Given the description of an element on the screen output the (x, y) to click on. 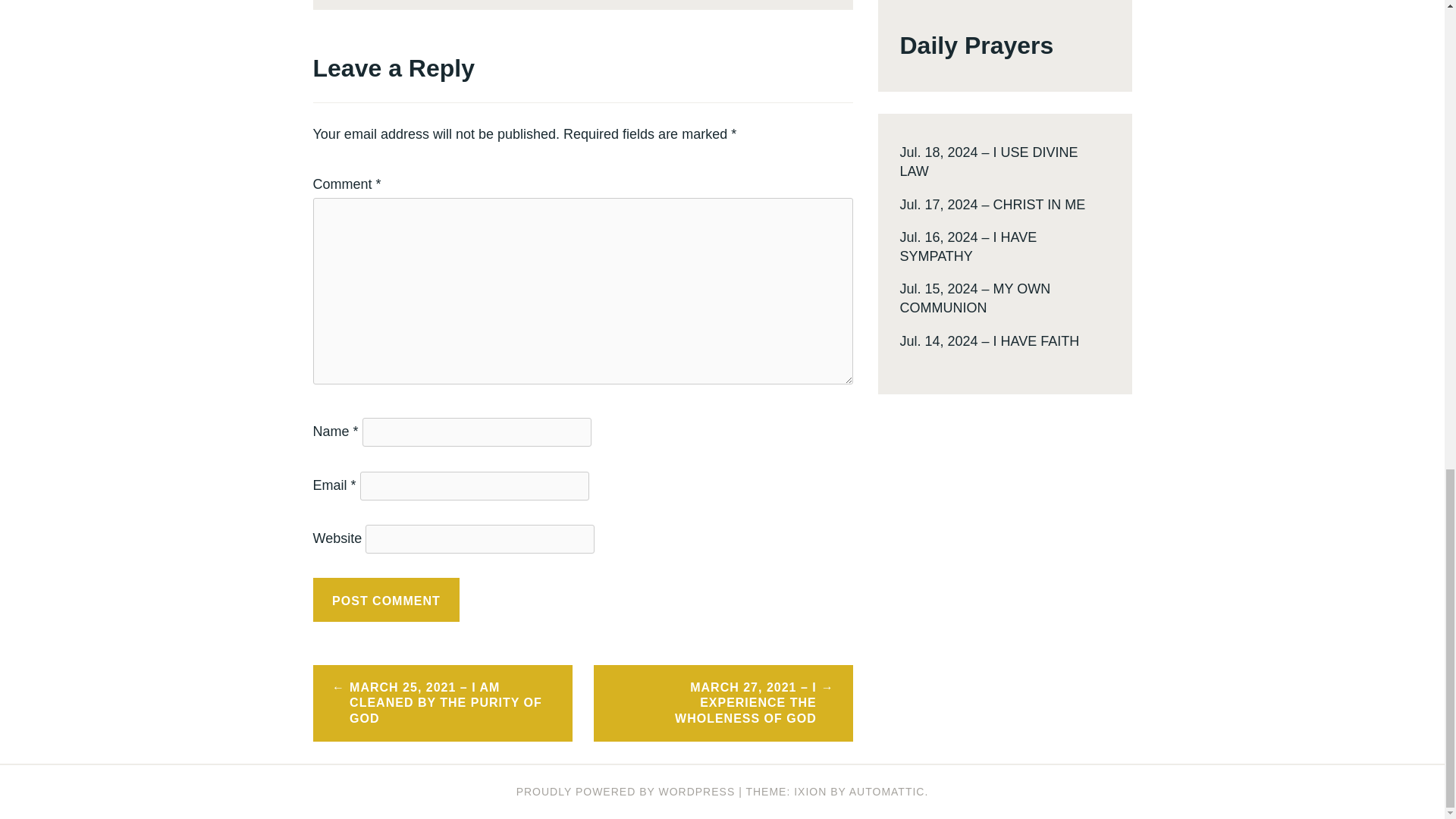
AUTOMATTIC (886, 791)
PROUDLY POWERED BY WORDPRESS (625, 791)
Post Comment (386, 599)
Post Comment (386, 599)
